Given the description of an element on the screen output the (x, y) to click on. 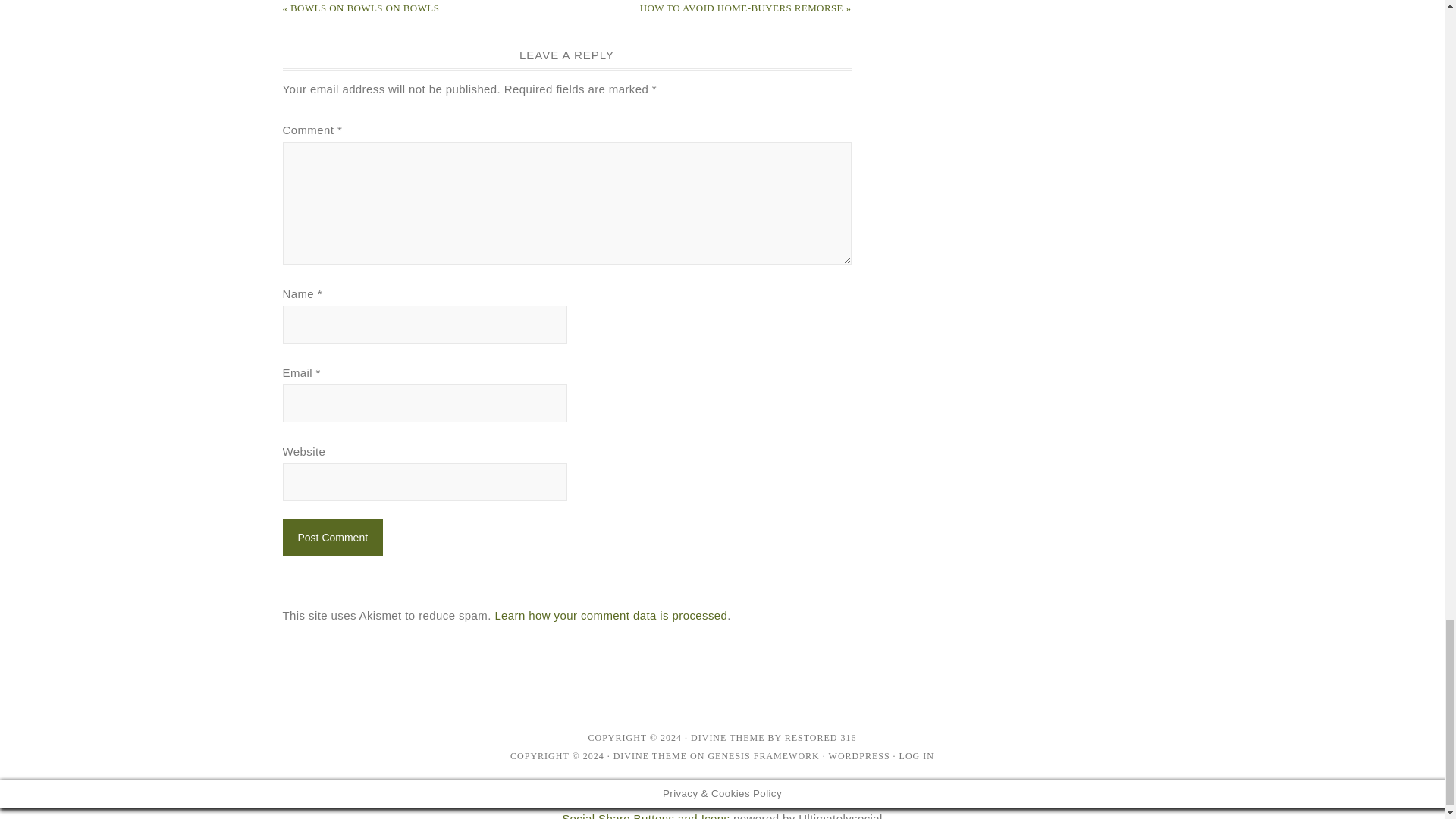
LOG IN (916, 756)
Post Comment (332, 537)
RESTORED 316 (820, 737)
DIVINE THEME (649, 756)
Post Comment (332, 537)
DIVINE THEME (727, 737)
WORDPRESS (858, 756)
GENESIS FRAMEWORK (762, 756)
Learn how your comment data is processed (610, 615)
